Given the description of an element on the screen output the (x, y) to click on. 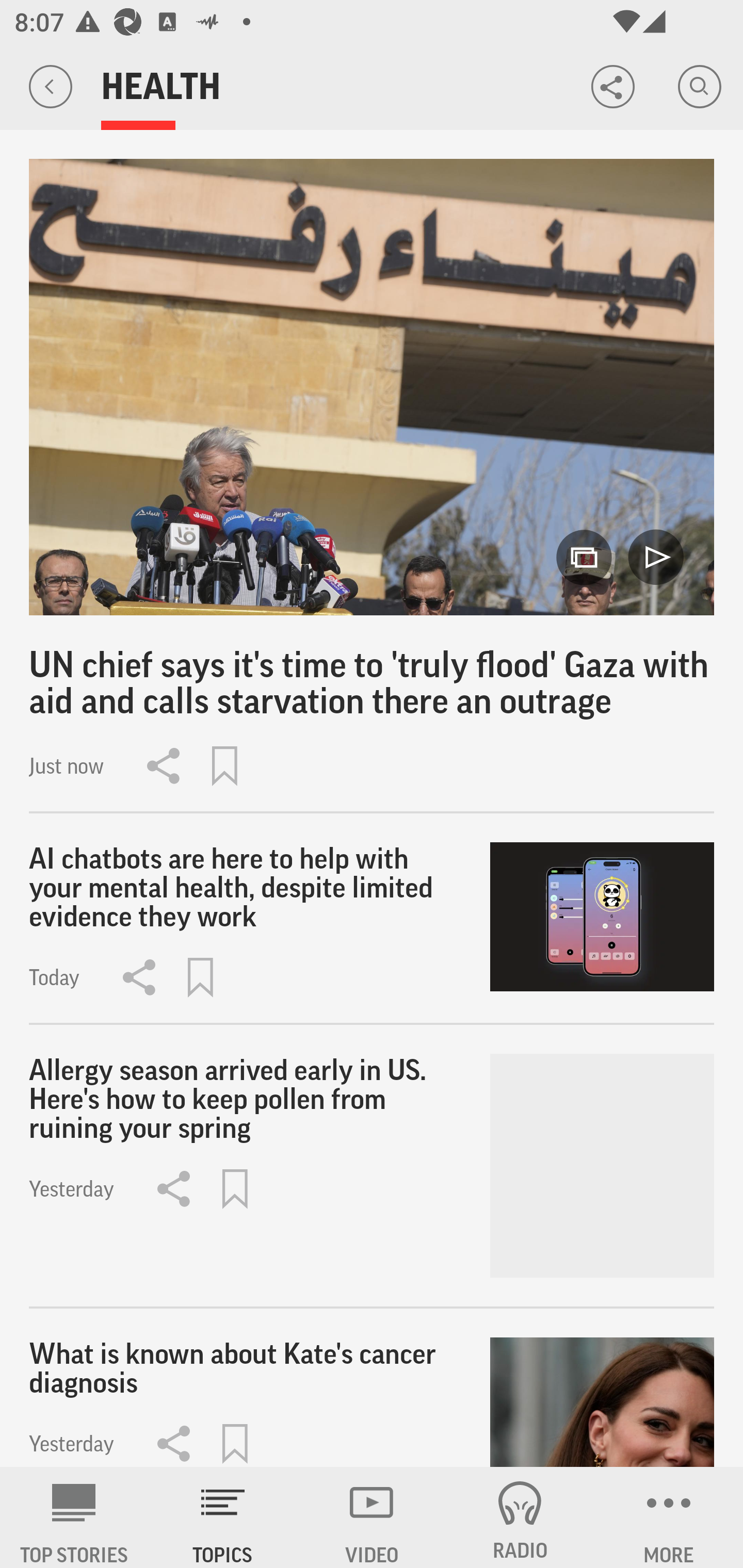
AP News TOP STORIES (74, 1517)
TOPICS (222, 1517)
VIDEO (371, 1517)
RADIO (519, 1517)
MORE (668, 1517)
